Given the description of an element on the screen output the (x, y) to click on. 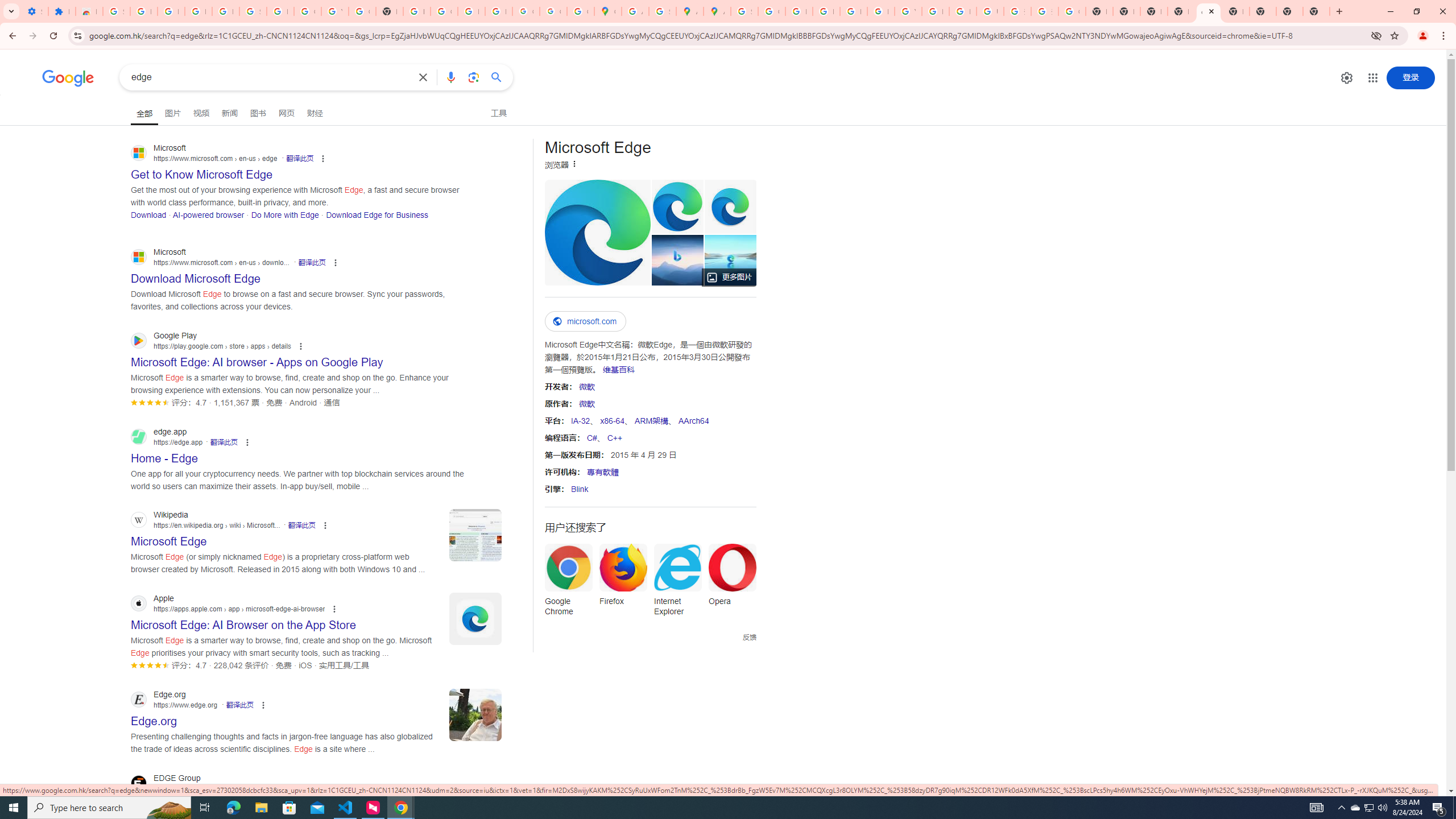
YouTube (908, 11)
YouTube (334, 11)
upload.wikimedia.org/wikipedia/commons/9/98/Micros... (597, 232)
Microsoft Edge help & learning (676, 260)
Download Edge for Business (377, 214)
